Given the description of an element on the screen output the (x, y) to click on. 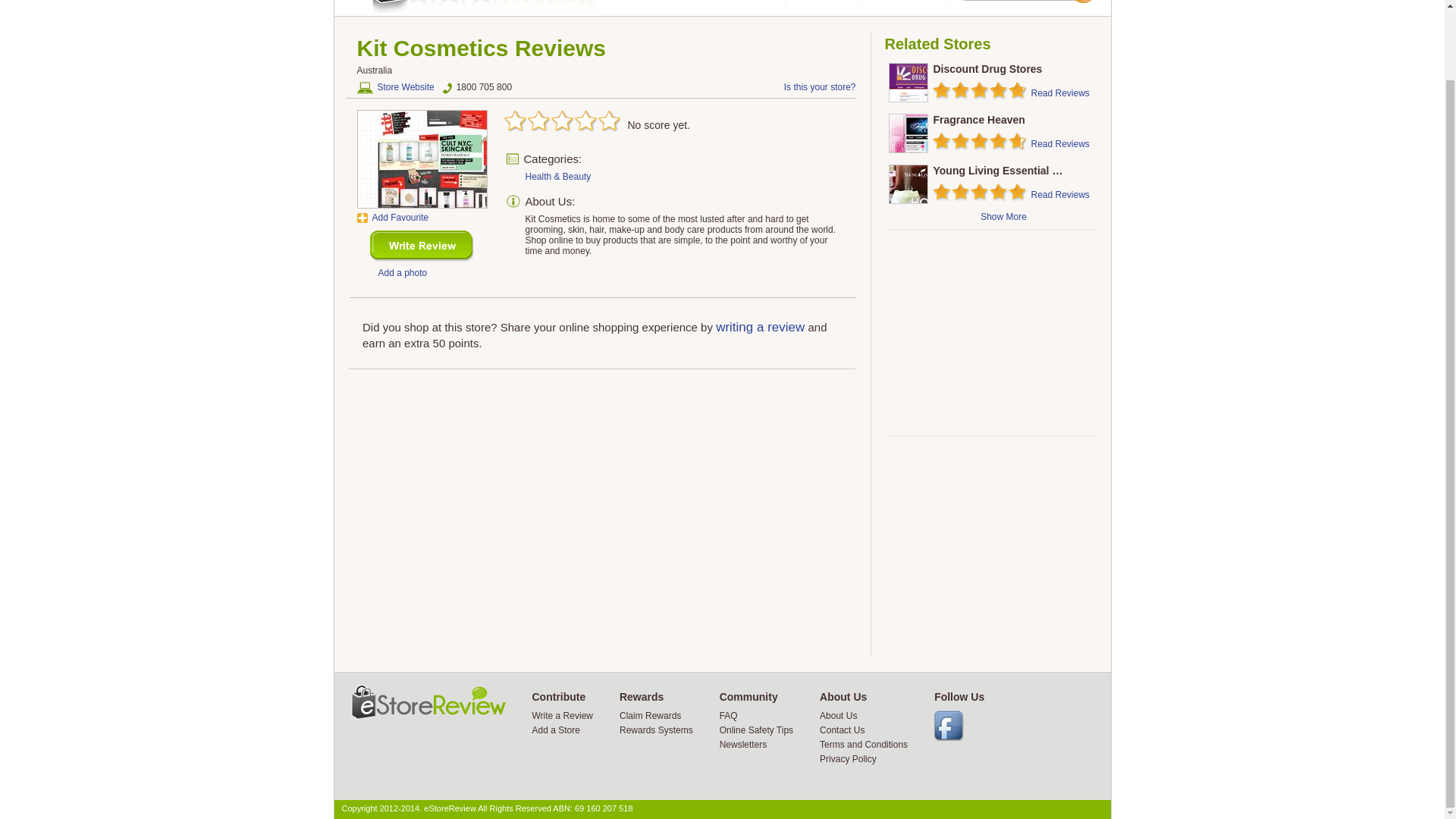
New Review (421, 245)
Add a photo (401, 272)
Add Favourite (392, 217)
Store Website (394, 87)
0 of 5 (595, 121)
